Given the description of an element on the screen output the (x, y) to click on. 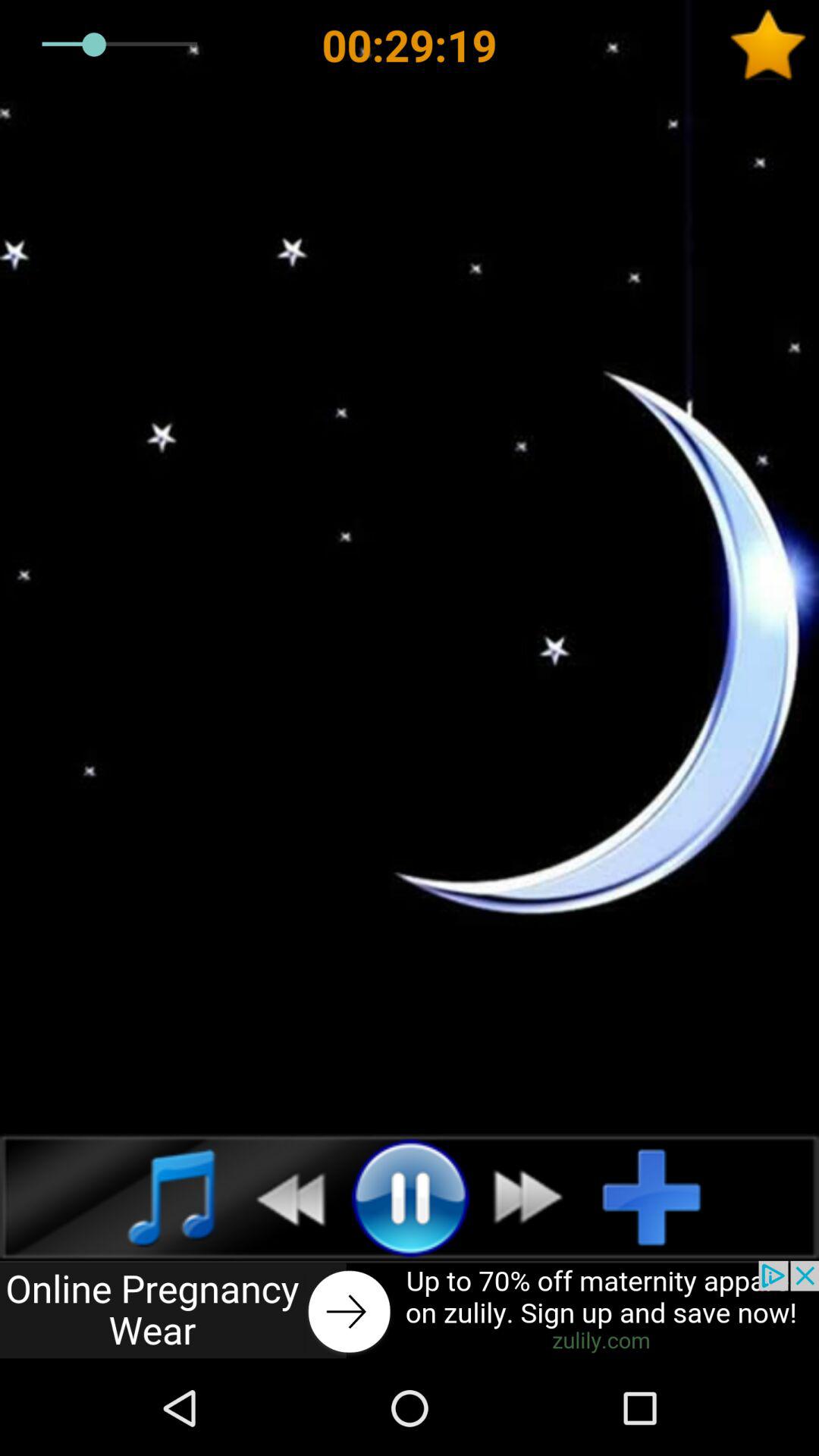
favorite page (774, 44)
